Given the description of an element on the screen output the (x, y) to click on. 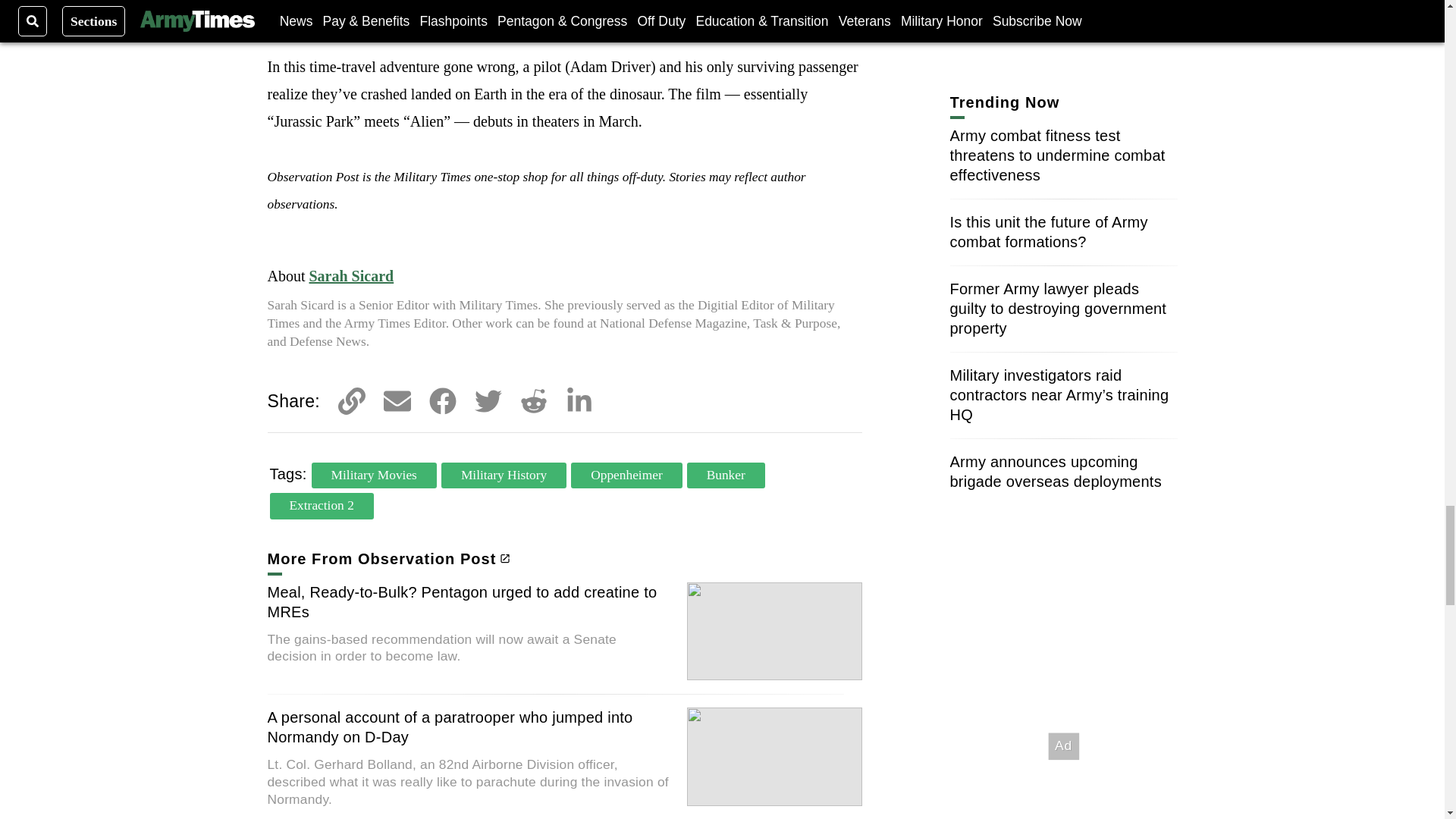
extraction 2 (321, 505)
military movies (373, 475)
bunker (726, 475)
military history (503, 475)
oppenheimer (625, 475)
